Given the description of an element on the screen output the (x, y) to click on. 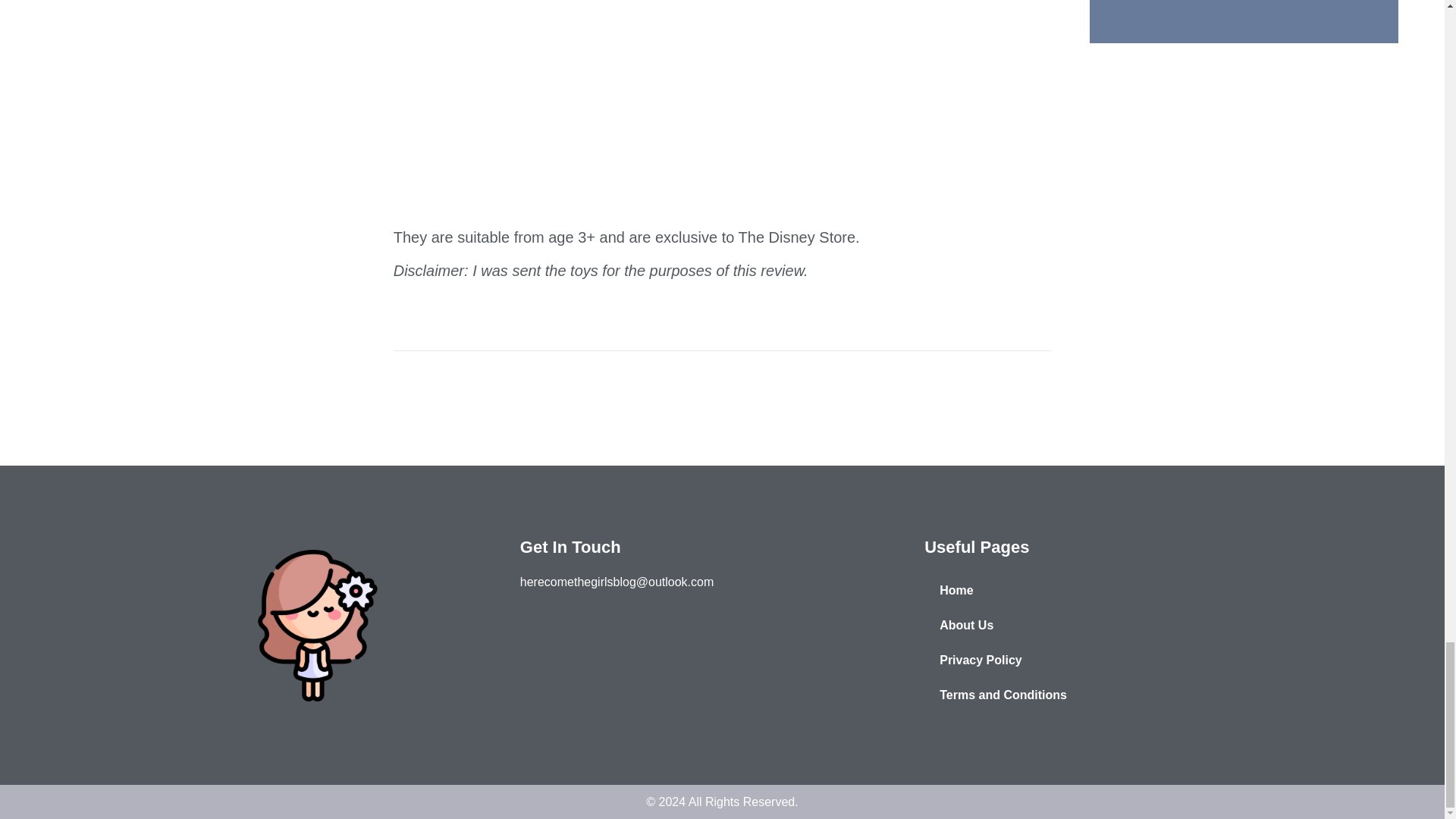
Here Come The Girls Blog Logo png (317, 625)
Privacy Policy (1125, 660)
Terms and Conditions (1125, 695)
About Us (1125, 625)
Home (1125, 590)
